Given the description of an element on the screen output the (x, y) to click on. 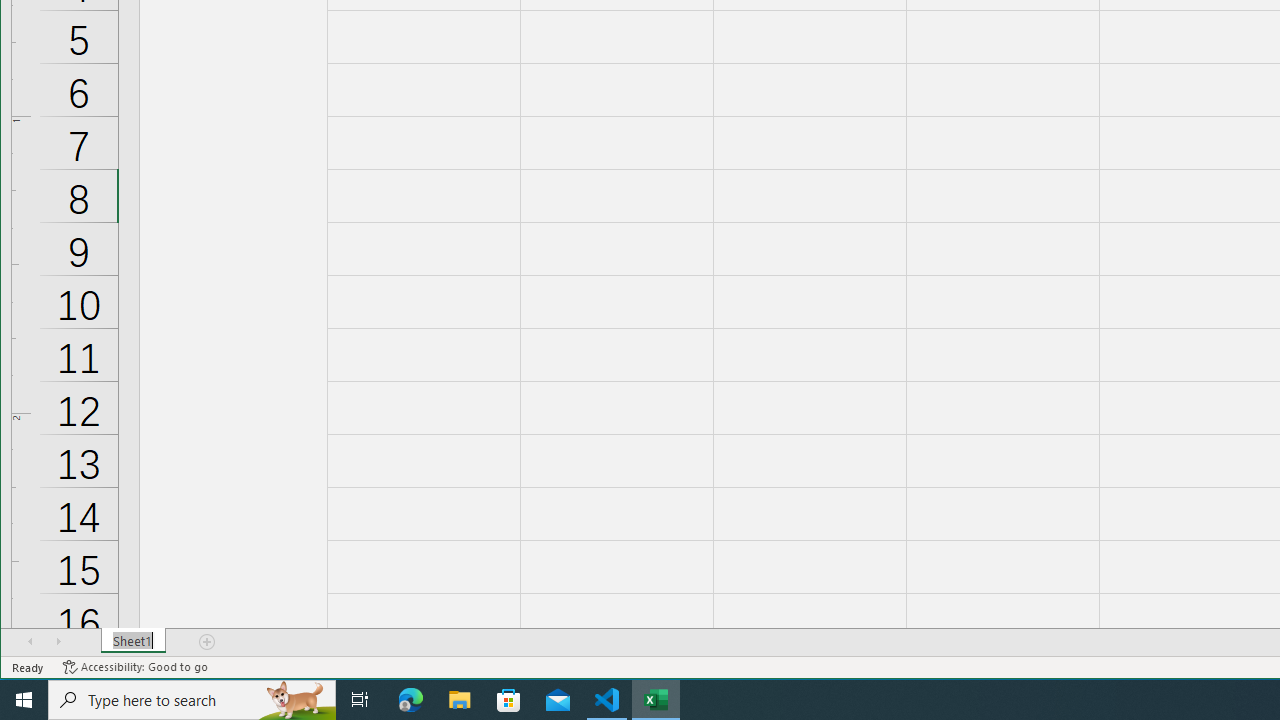
Search highlights icon opens search home window (295, 699)
Excel - 1 running window (656, 699)
Microsoft Store (509, 699)
Sheet Tab (133, 641)
Type here to search (191, 699)
Task View (359, 699)
File Explorer (460, 699)
Visual Studio Code - 1 running window (607, 699)
Start (24, 699)
Microsoft Edge (411, 699)
